Given the description of an element on the screen output the (x, y) to click on. 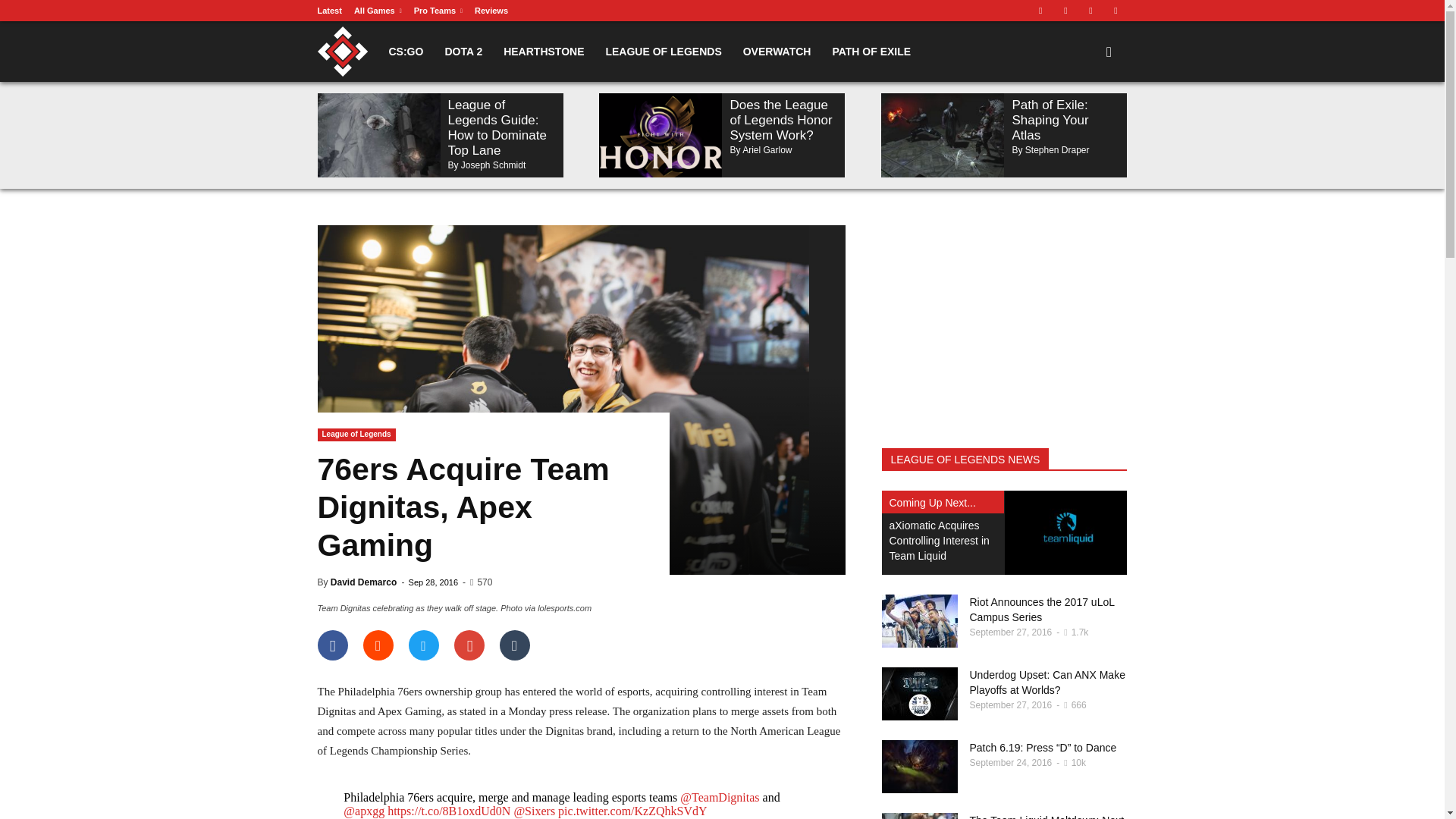
Does the League of Legends Honor System Work? (660, 135)
Esports Edition (392, 51)
Youtube (1114, 10)
Pro Teams (438, 10)
Path of Exile: Shaping Your Atlas (942, 135)
Twitch (1065, 10)
League of Legends Guide: How to Dominate Top Lane (378, 135)
Twitter (1090, 10)
Does the League of Legends Honor System Work? (780, 119)
All Games (377, 10)
